Given the description of an element on the screen output the (x, y) to click on. 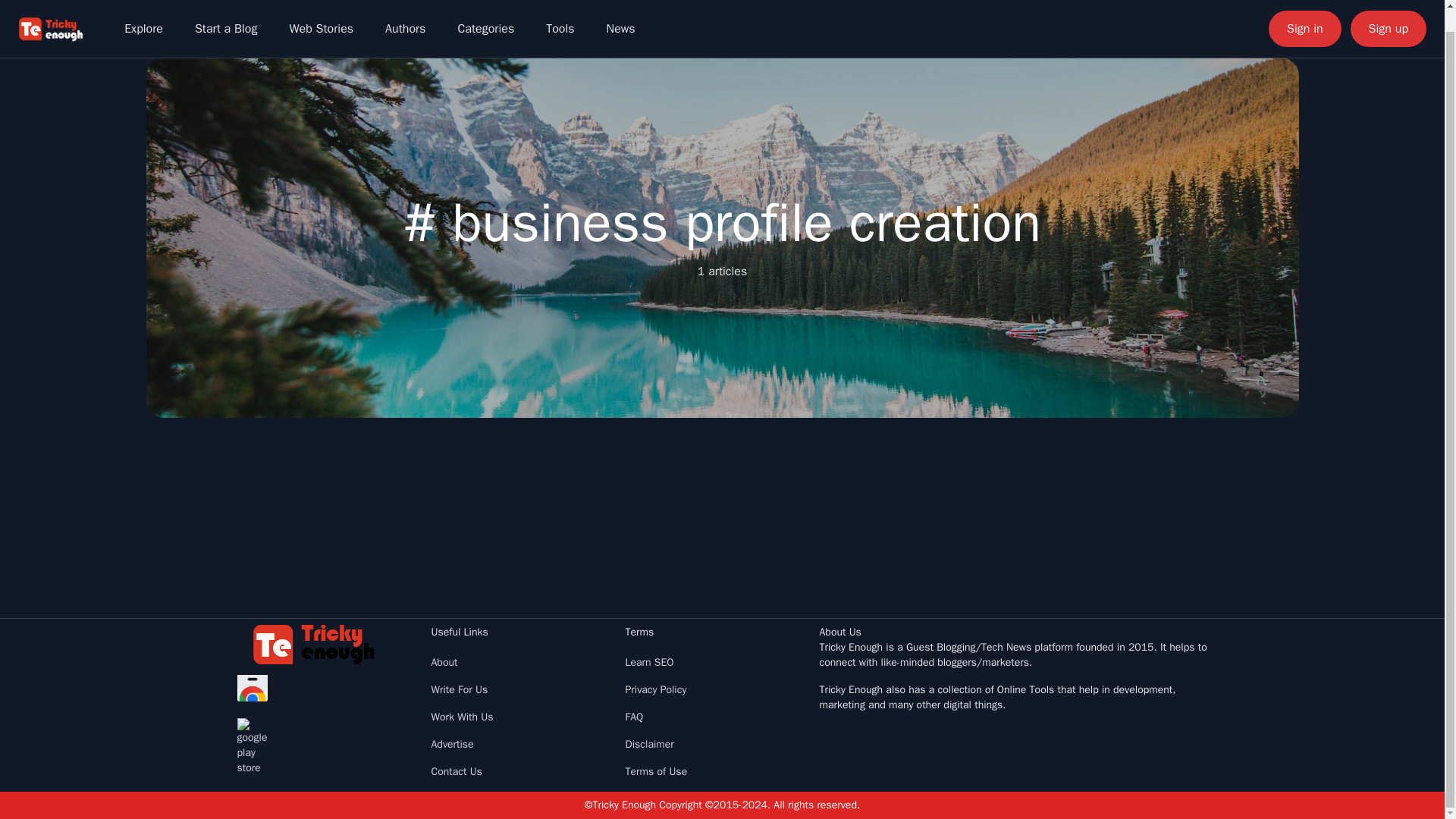
Contact Us (455, 771)
Disclaimer (648, 744)
Tools (560, 11)
Sign up (1388, 12)
Work With Us (461, 716)
Learn SEO (648, 662)
Sign in (1304, 12)
Explore (143, 11)
FAQ (633, 716)
News (620, 11)
